Given the description of an element on the screen output the (x, y) to click on. 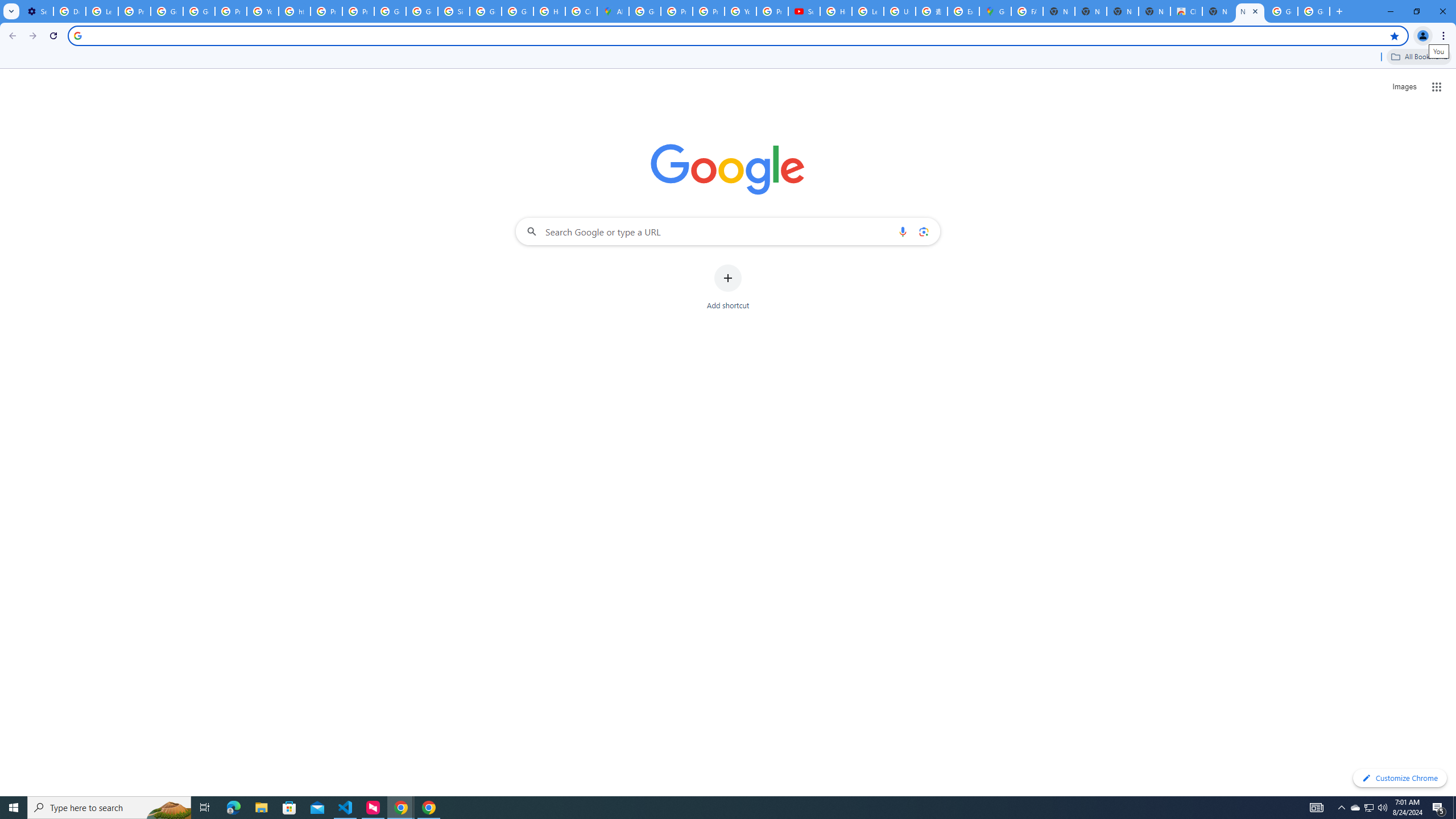
Add shortcut (727, 287)
Search Google or type a URL (727, 230)
Subscriptions - YouTube (804, 11)
https://scholar.google.com/ (294, 11)
New Tab (1249, 11)
YouTube (262, 11)
Google Images (1281, 11)
